Given the description of an element on the screen output the (x, y) to click on. 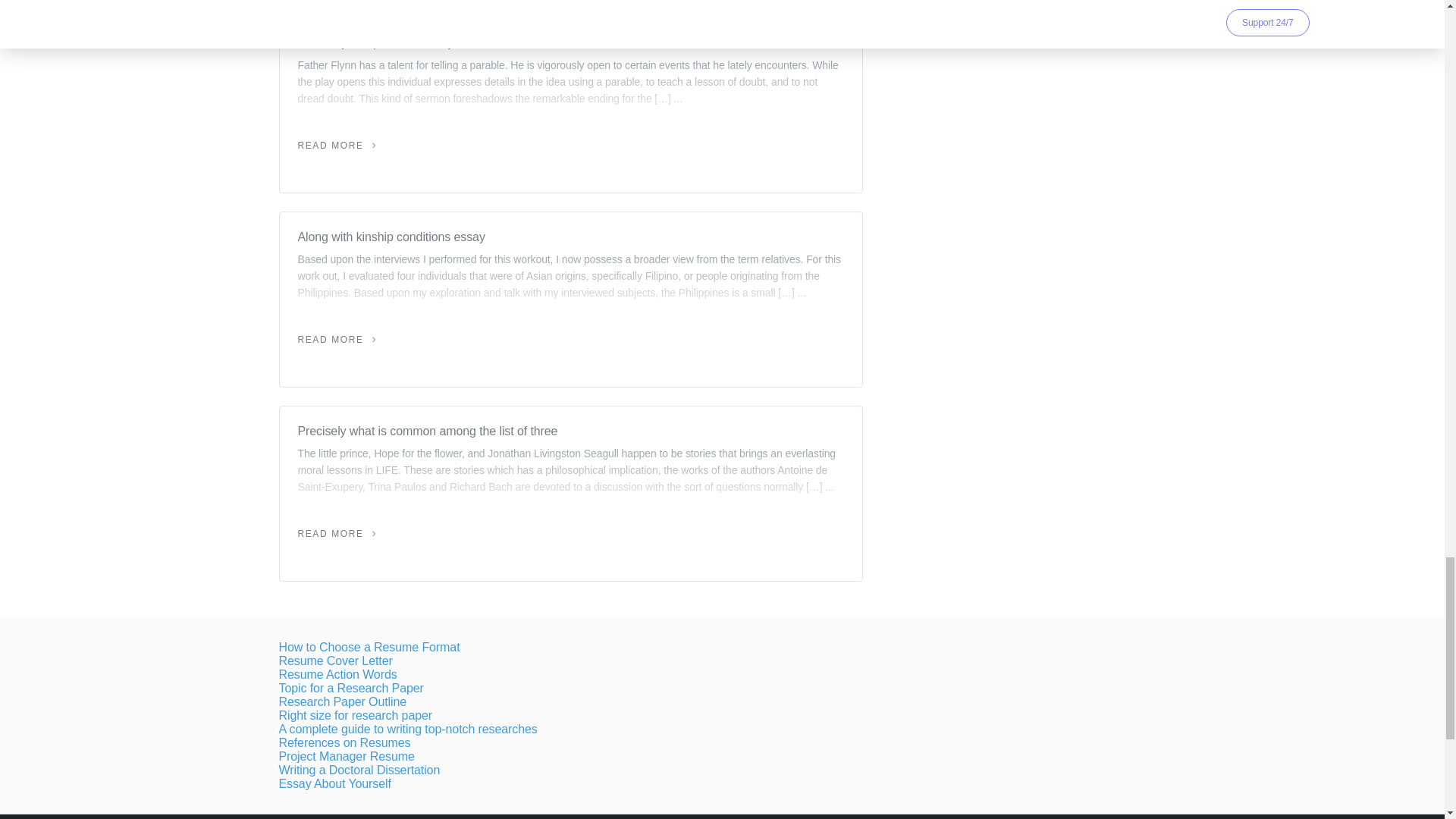
READ MORE (337, 533)
READ MORE (337, 339)
Father flynn s parables essay (570, 43)
READ MORE (337, 145)
Along with kinship conditions essay (570, 237)
Precisely what is common among the list of three (570, 431)
